Given the description of an element on the screen output the (x, y) to click on. 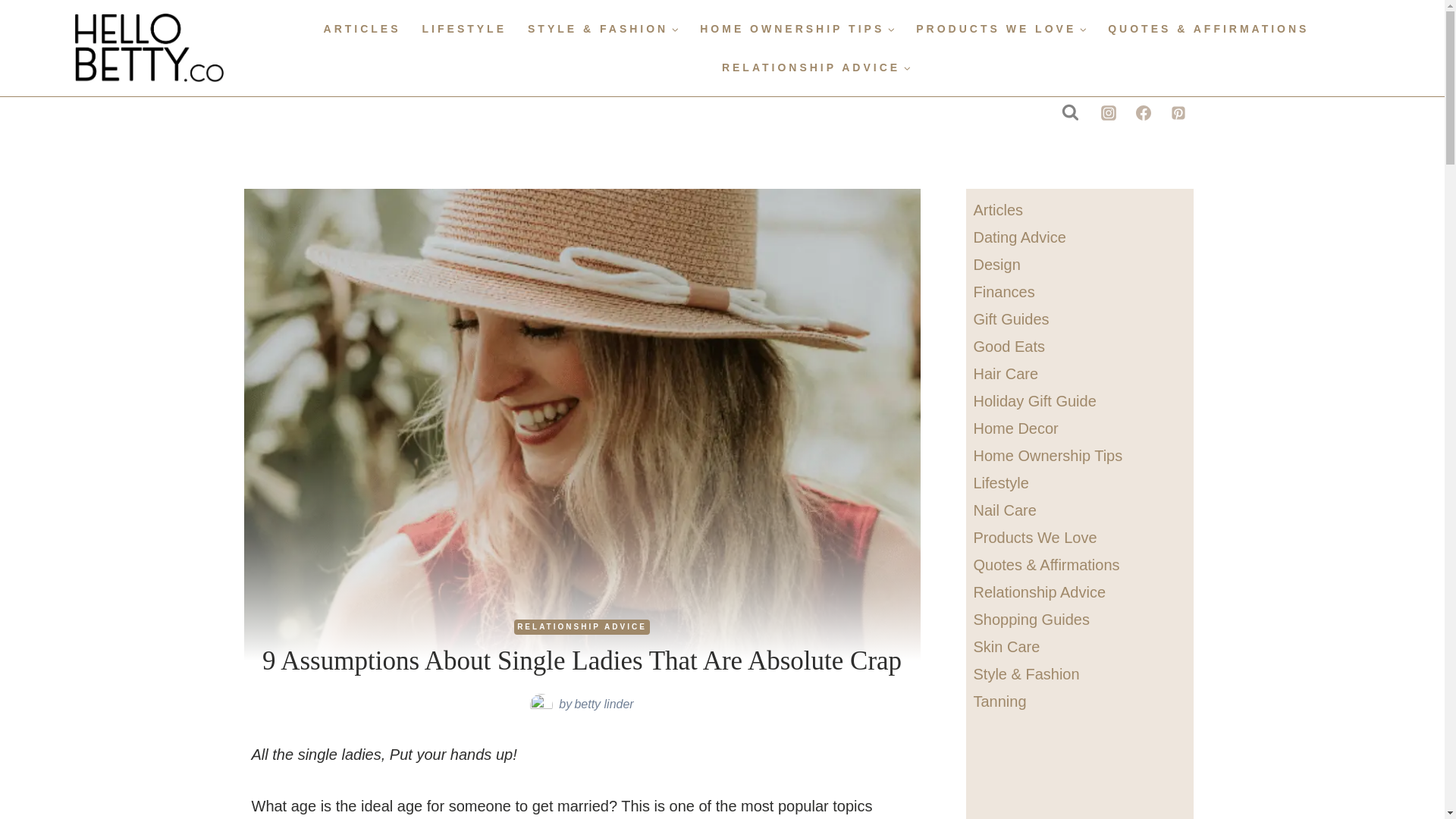
ARTICLES (362, 28)
RELATIONSHIP ADVICE (816, 67)
HOME OWNERSHIP TIPS (796, 28)
PRODUCTS WE LOVE (1001, 28)
RELATIONSHIP ADVICE (581, 626)
betty linder (603, 703)
LIFESTYLE (464, 28)
